Given the description of an element on the screen output the (x, y) to click on. 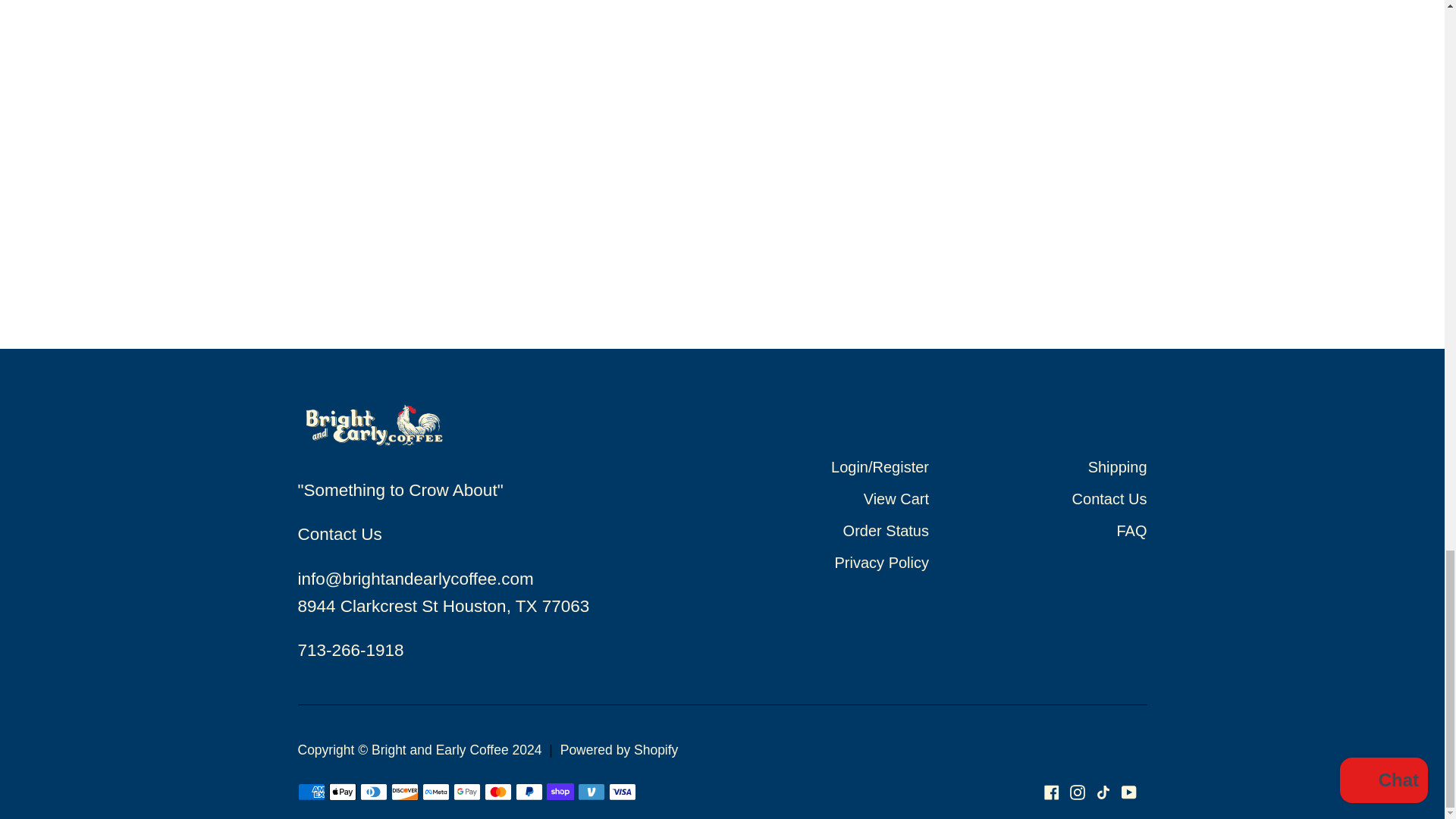
Bright and Early Coffee on TikTok (1101, 792)
Bright and Early Coffee on Instagram (1076, 792)
Bright and Early Coffee on Facebook (1050, 792)
Bright and Early Coffee on YouTube (1128, 792)
